Given the description of an element on the screen output the (x, y) to click on. 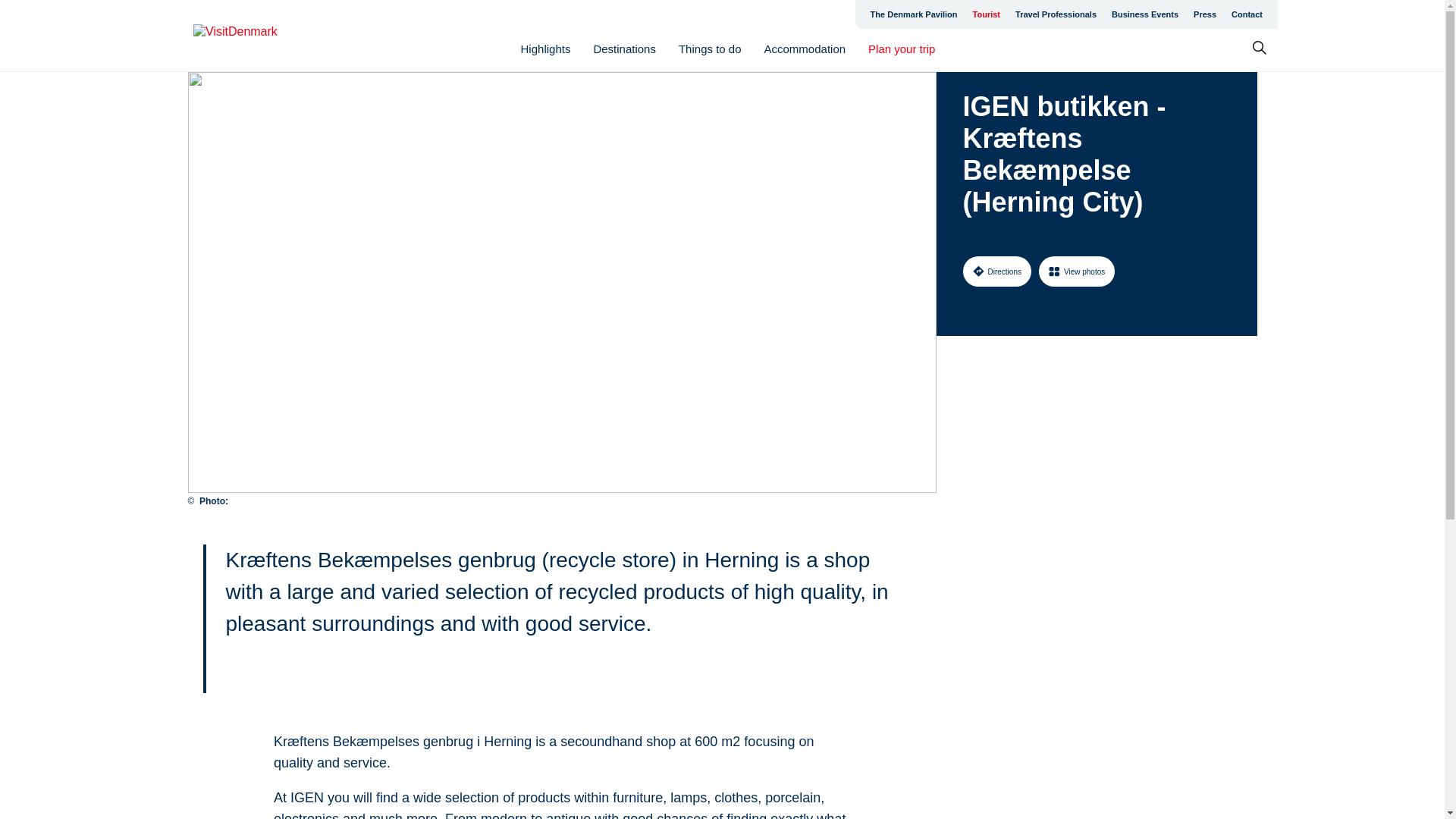
Plan your trip (900, 48)
The Denmark Pavilion (914, 14)
Highlights (545, 48)
Contact (1246, 14)
Directions (996, 271)
Business Events (1144, 14)
Travel Professionals (1055, 14)
Things to do (709, 48)
Tourist (986, 14)
Press (1205, 14)
